Given the description of an element on the screen output the (x, y) to click on. 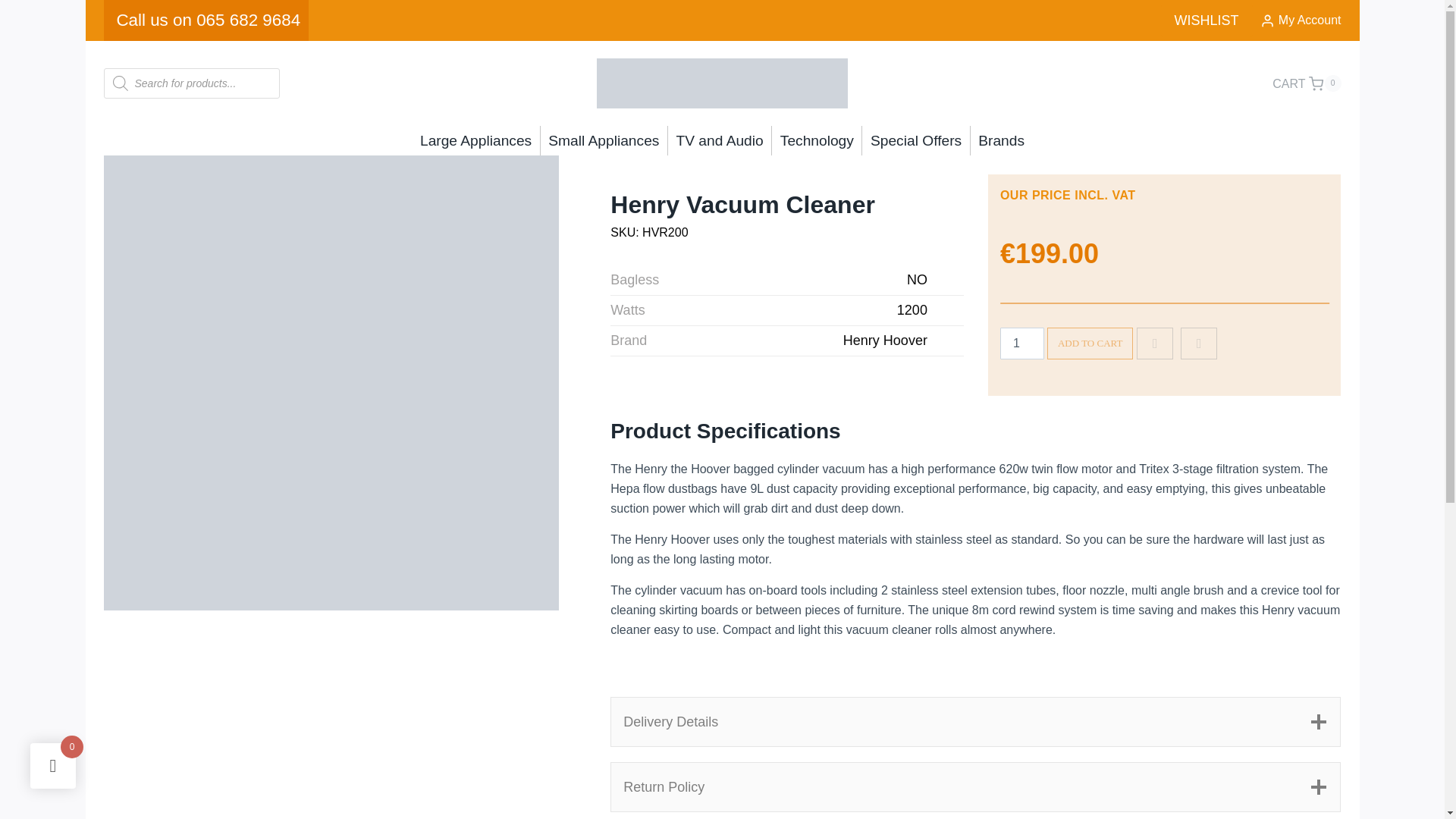
1 (1021, 343)
Large Appliances (475, 140)
WISHLIST (1206, 20)
Call us on 065 682 9684 (205, 20)
My Account (1306, 84)
